Given the description of an element on the screen output the (x, y) to click on. 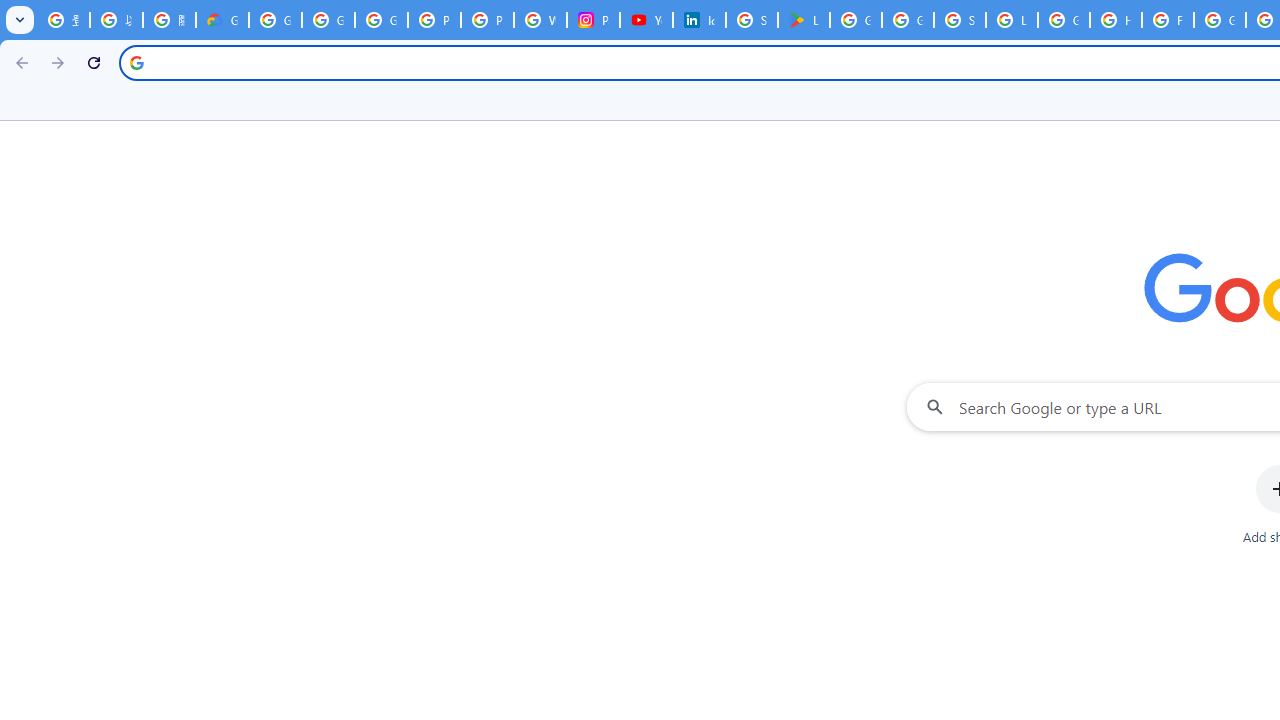
Sign in - Google Accounts (959, 20)
Last Shelter: Survival - Apps on Google Play (803, 20)
Google Workspace - Specific Terms (907, 20)
How do I create a new Google Account? - Google Account Help (1115, 20)
